Given the description of an element on the screen output the (x, y) to click on. 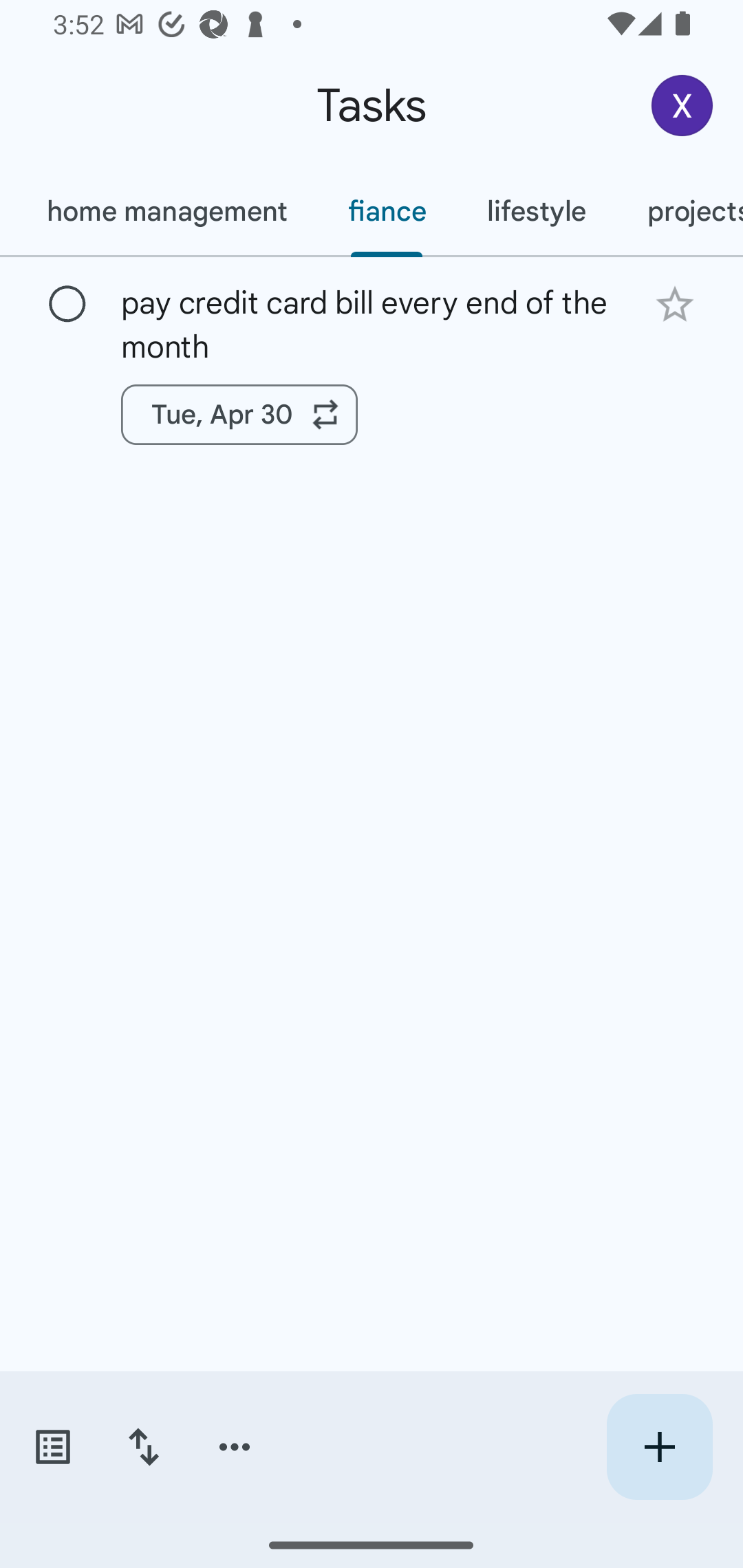
home management (166, 211)
lifestyle (536, 211)
projects (679, 211)
Add star (674, 303)
Mark as complete (67, 304)
Tue, Apr 30 (239, 414)
Switch task lists (52, 1447)
Create new task (659, 1446)
Change sort order (143, 1446)
More options (234, 1446)
